Given the description of an element on the screen output the (x, y) to click on. 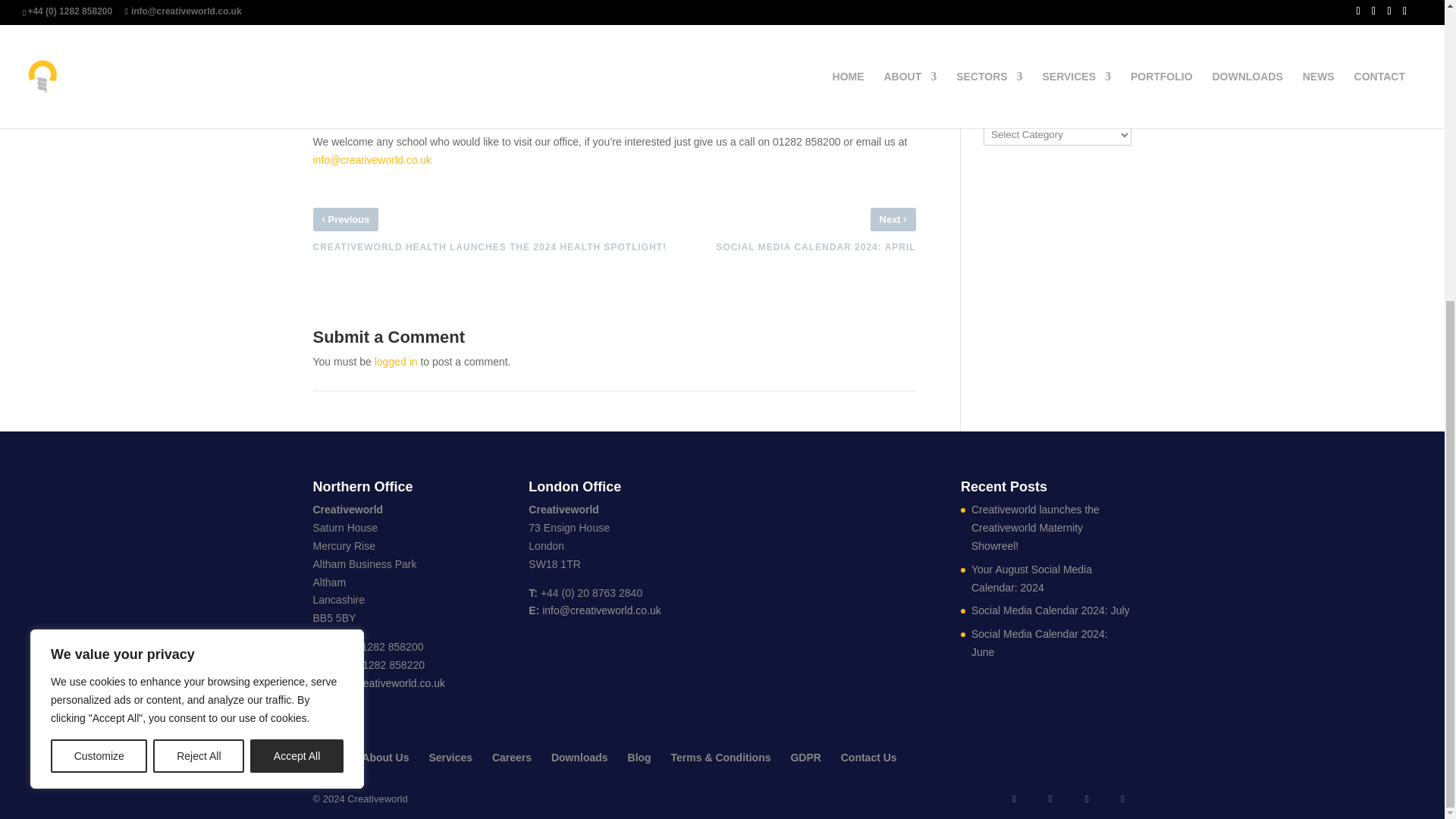
Reject All (198, 287)
Accept All (296, 287)
Customize (98, 287)
